Given the description of an element on the screen output the (x, y) to click on. 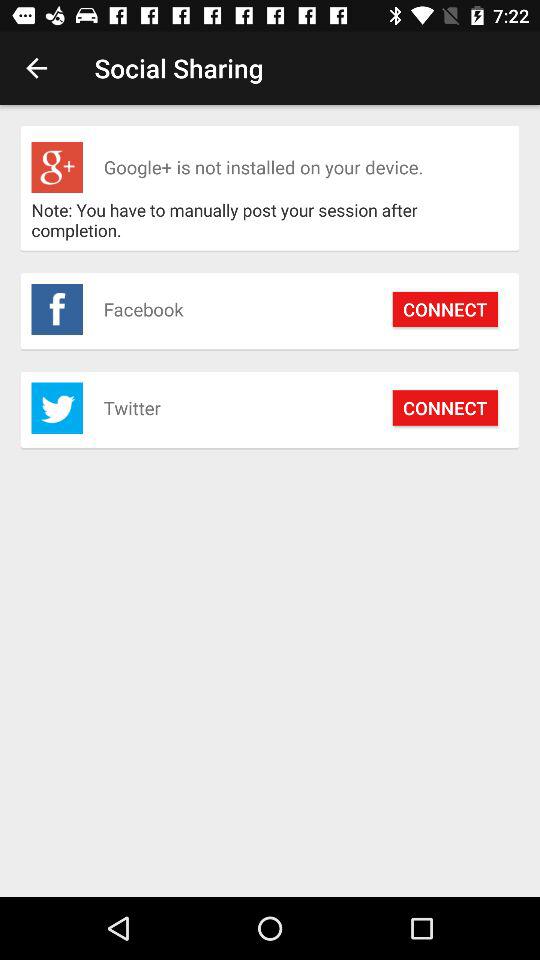
turn on icon next to the social sharing item (36, 68)
